Given the description of an element on the screen output the (x, y) to click on. 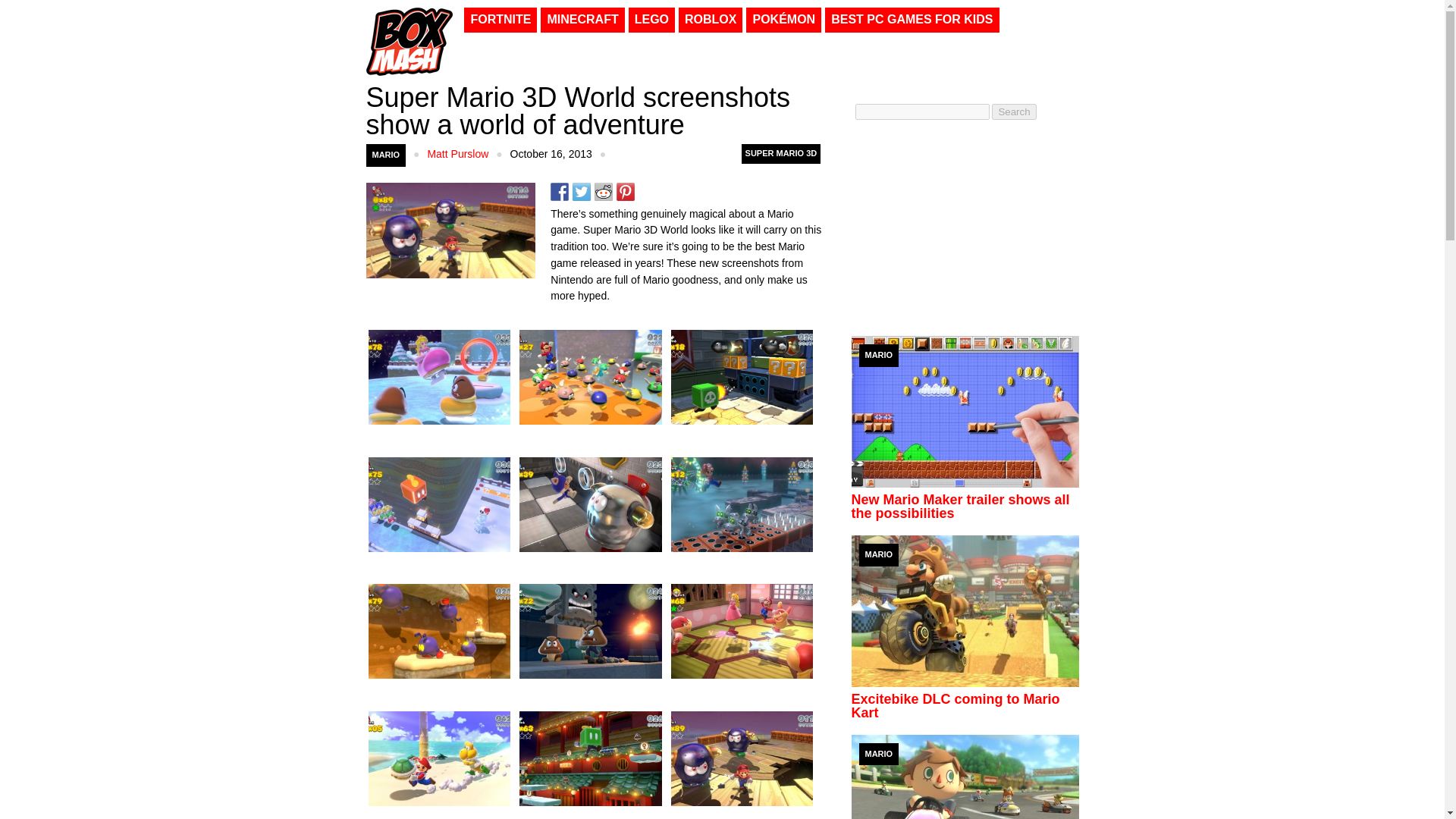
Share on Facebook (559, 191)
FORTNITE (500, 19)
menu-item-9032 (710, 19)
MINECRAFT (582, 19)
menu-item-9033 (500, 19)
menu-item-9037 (783, 19)
MARIO (385, 155)
Posts by Matt Purslow (456, 153)
menu-item-18 (582, 19)
SUPER MARIO 3D (781, 153)
LEGO (651, 19)
menu-item-16 (651, 19)
menu-item-7426 (911, 19)
ROBLOX (710, 19)
BEST PC GAMES FOR KIDS (911, 19)
